Given the description of an element on the screen output the (x, y) to click on. 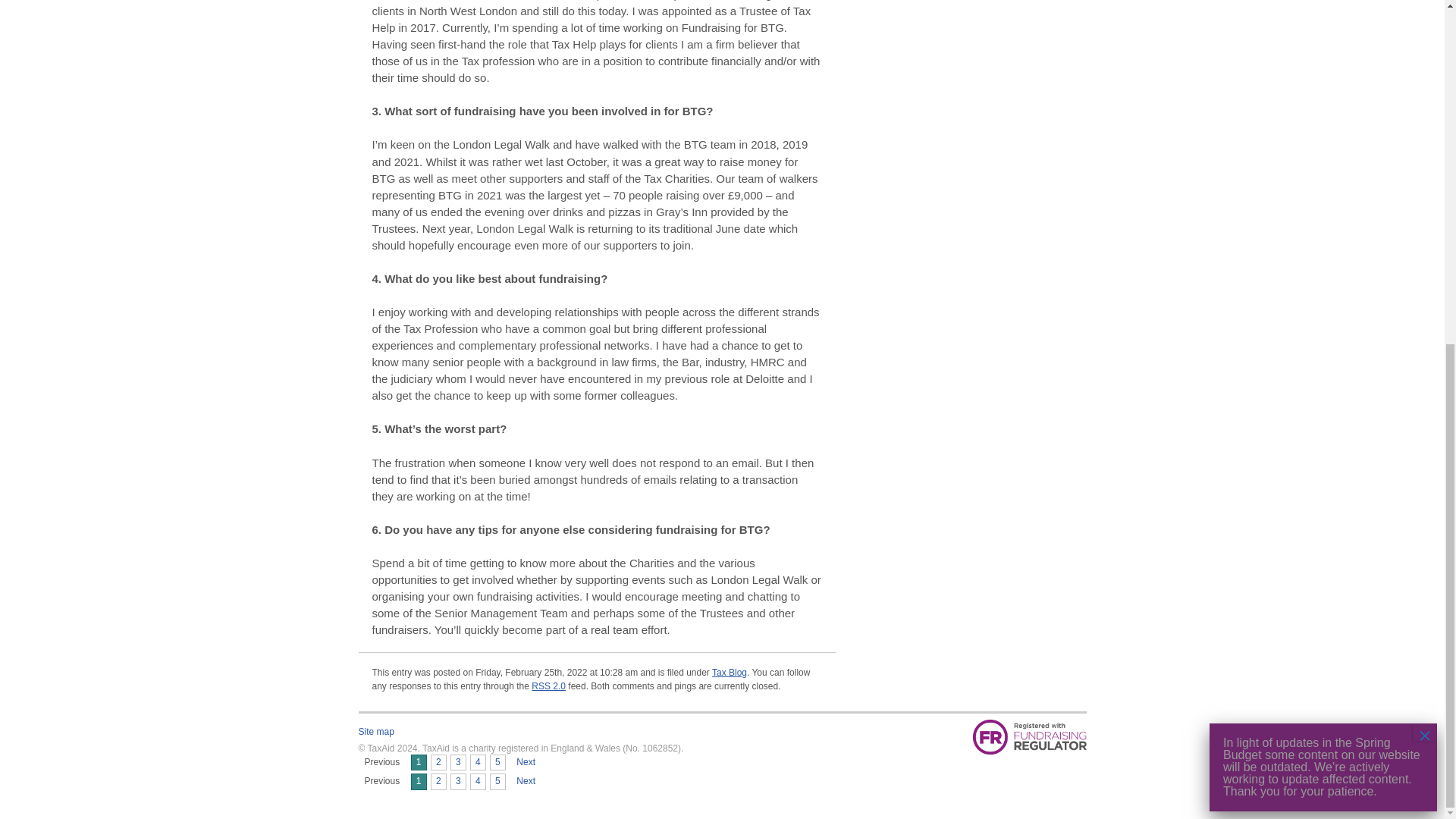
December 24, 2022 (457, 762)
5 (497, 781)
2 (438, 781)
4 (478, 762)
May 26, 2017 (497, 762)
RSS 2.0 (548, 685)
5 (497, 762)
November 26, 2021 (478, 762)
November 16, 2023 (526, 781)
May 26, 2017 (497, 781)
Site map (375, 731)
Next (526, 781)
November 16, 2023 (526, 762)
November 16, 2023 (438, 762)
4 (478, 781)
